Given the description of an element on the screen output the (x, y) to click on. 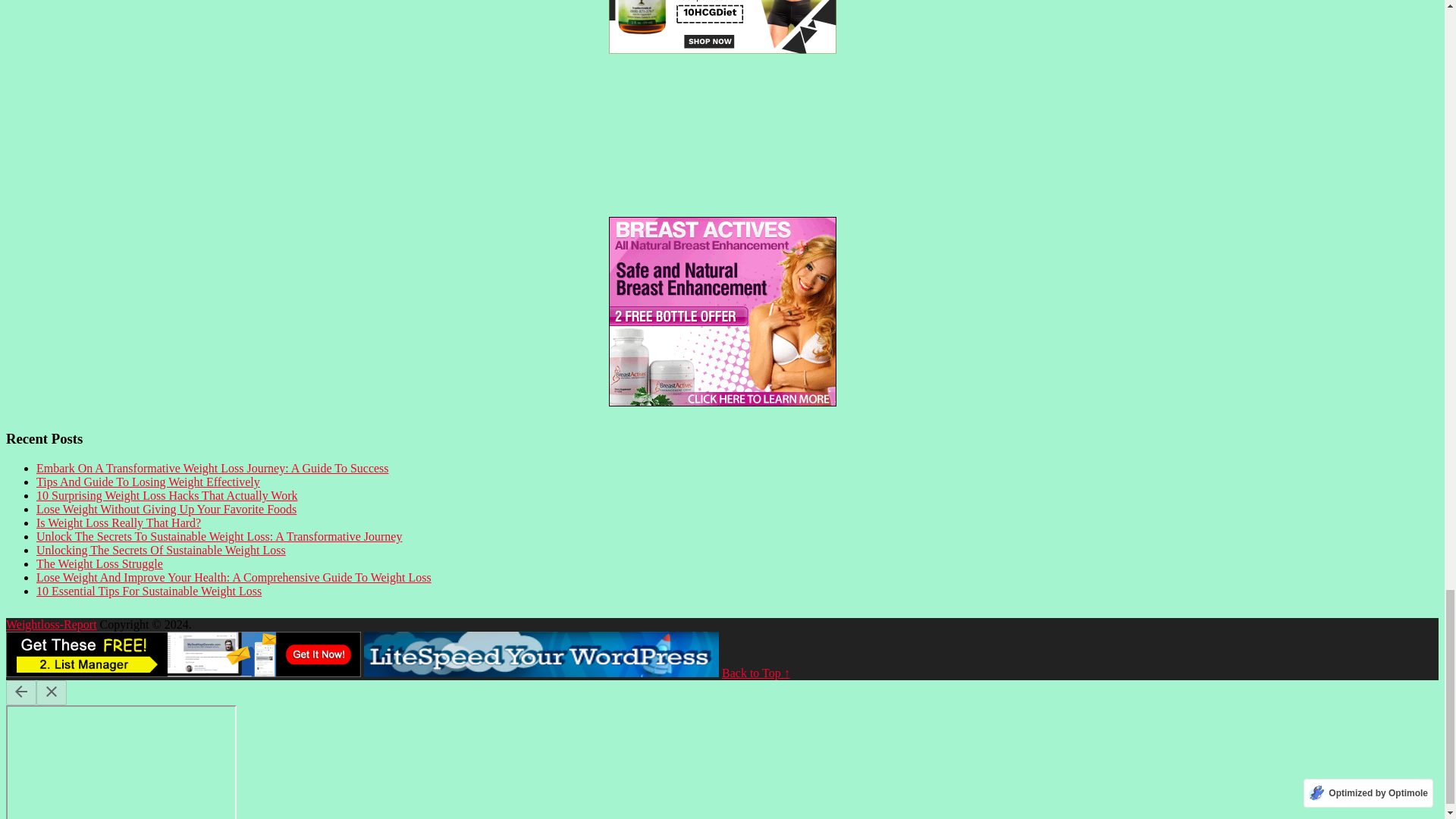
Is Weight Loss Really That Hard? (118, 522)
The Weight Loss Struggle (99, 563)
Lose Weight Without Giving Up Your Favorite Foods (166, 508)
10 Essential Tips For Sustainable Weight Loss (149, 590)
Weightloss-Report (51, 624)
10 Surprising Weight Loss Hacks That Actually Work (167, 495)
Tips And Guide To Losing Weight Effectively (148, 481)
Unlocking The Secrets Of Sustainable Weight Loss (160, 549)
